Given the description of an element on the screen output the (x, y) to click on. 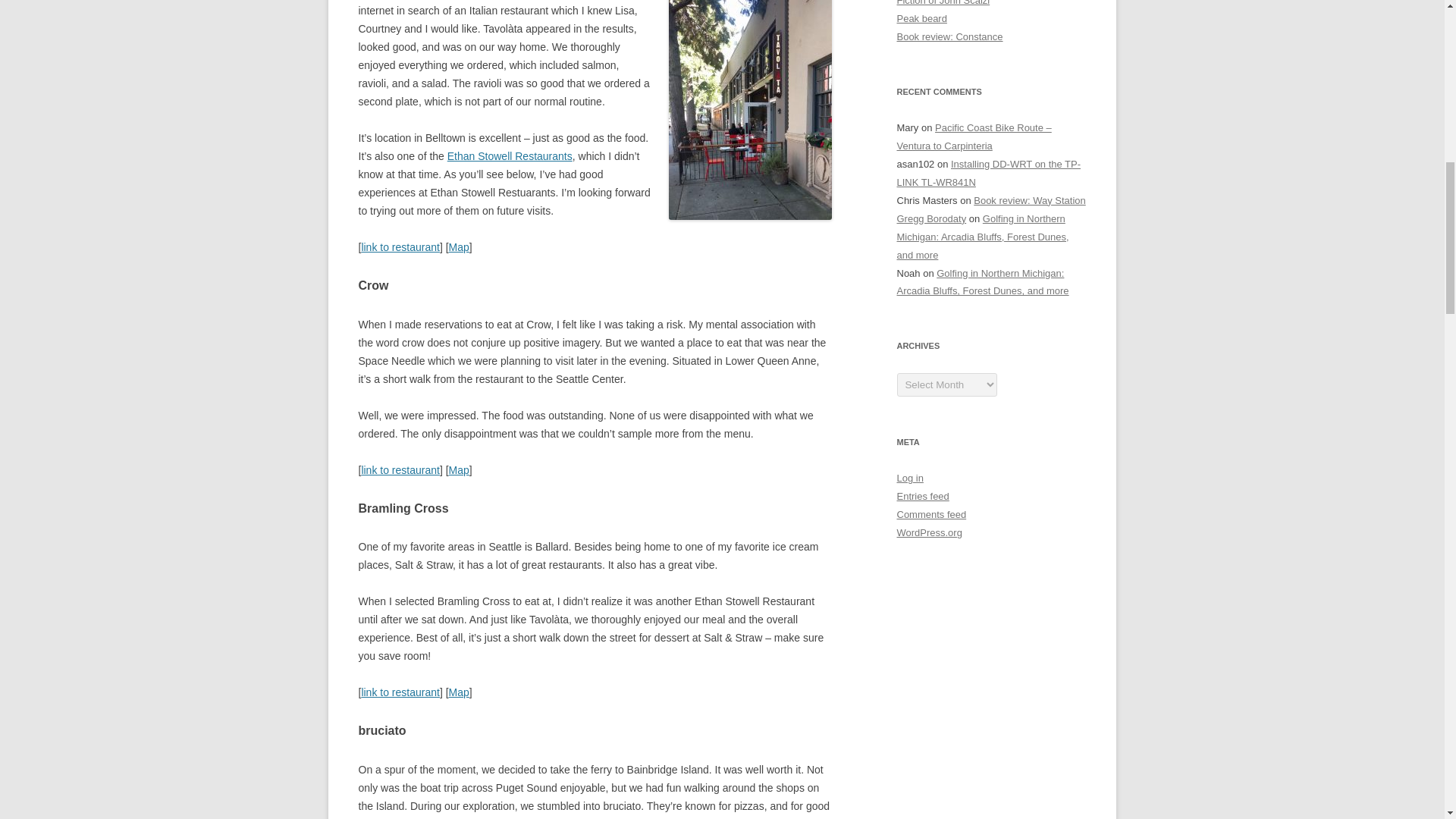
Map (458, 469)
Map (458, 246)
link to restaurant (400, 469)
Map (458, 692)
Ethan Stowell Restaurants (509, 155)
link to restaurant (400, 692)
link to restaurant (400, 246)
